Given the description of an element on the screen output the (x, y) to click on. 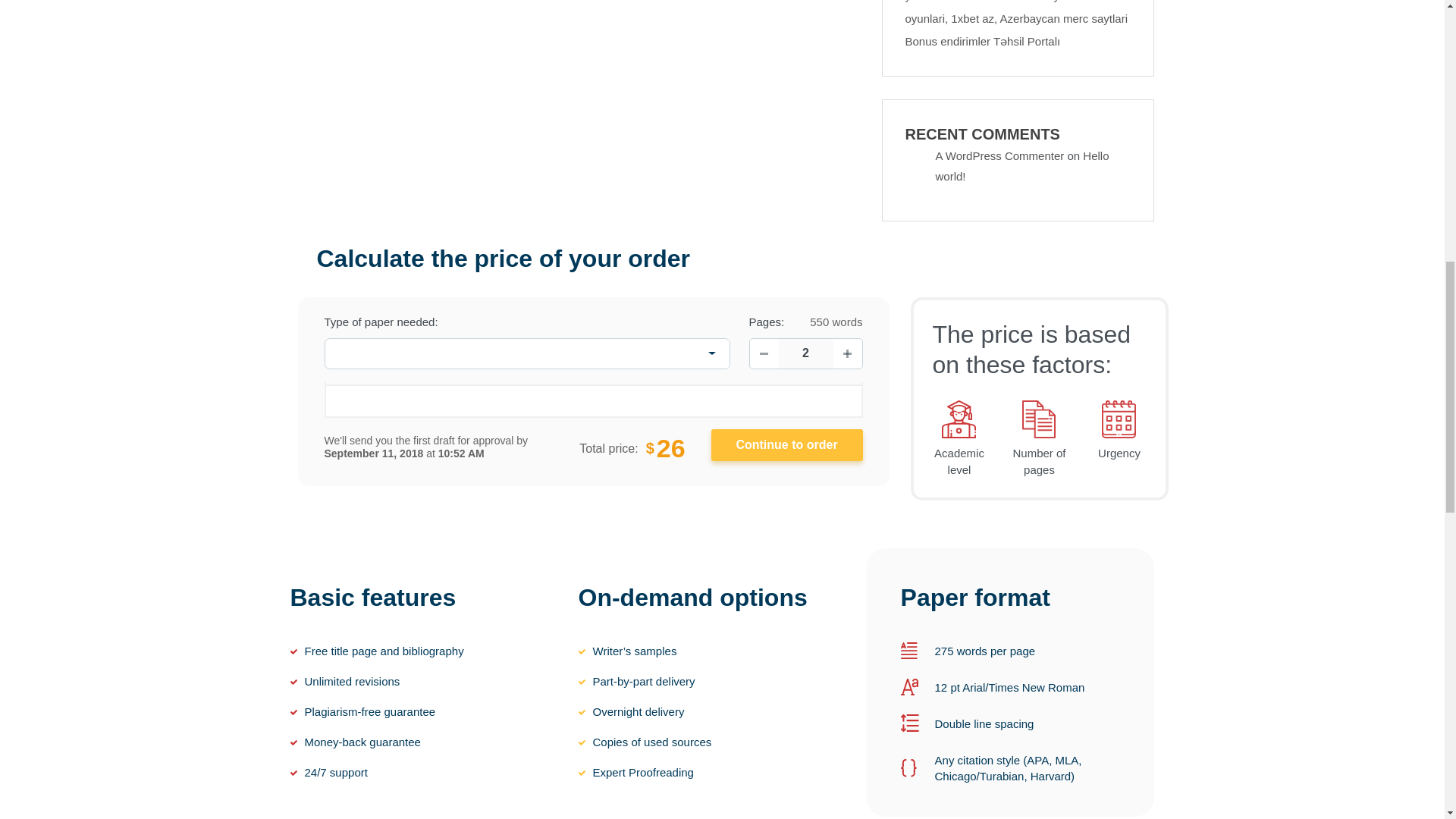
Hello world! (1022, 165)
A WordPress Commenter (1000, 155)
Continue to order (787, 445)
Continue to Order (787, 445)
2 (804, 353)
Increase (846, 353)
Decrease (763, 353)
Continue to order (787, 445)
